Given the description of an element on the screen output the (x, y) to click on. 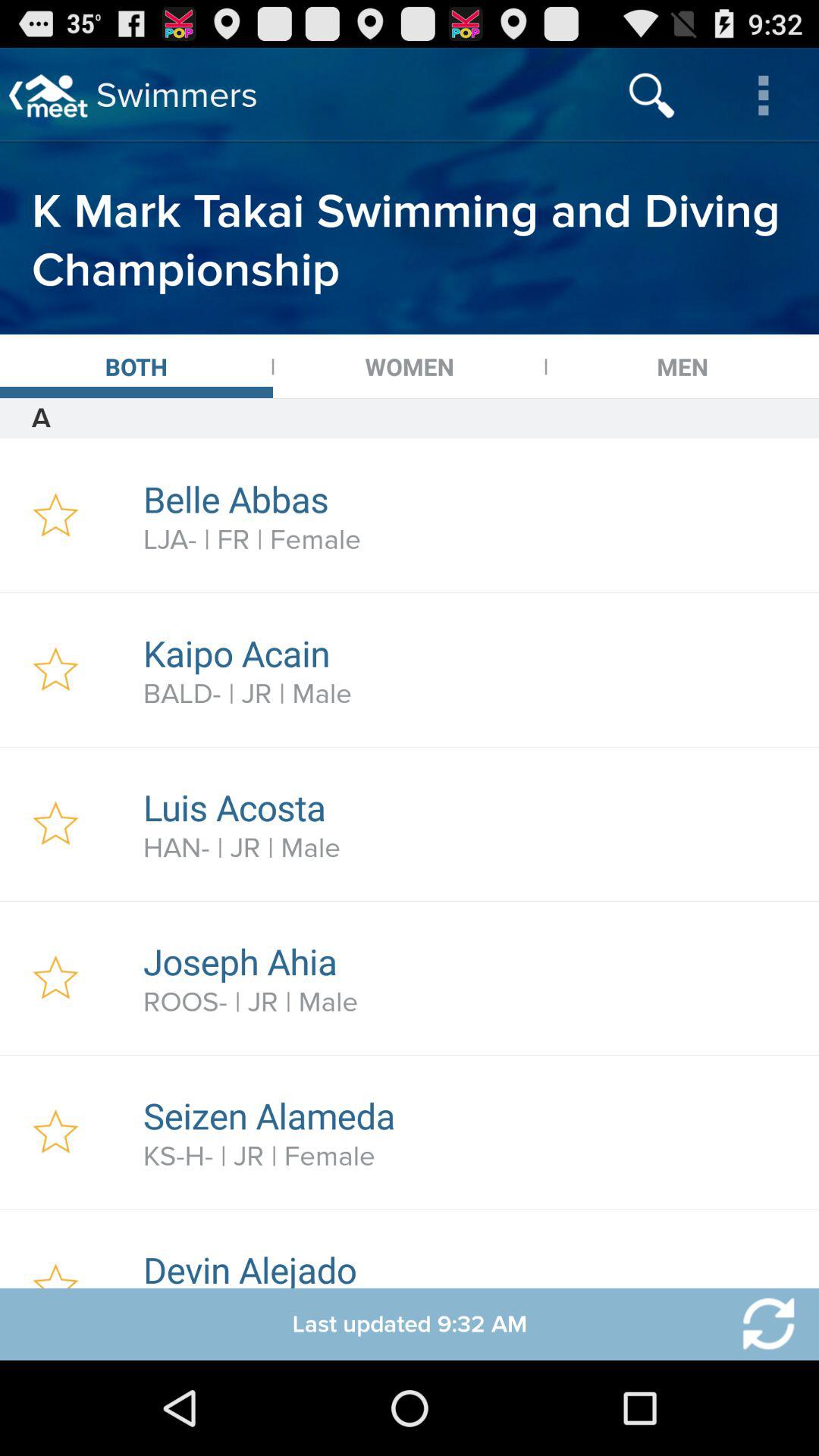
add to favorites (55, 669)
